Given the description of an element on the screen output the (x, y) to click on. 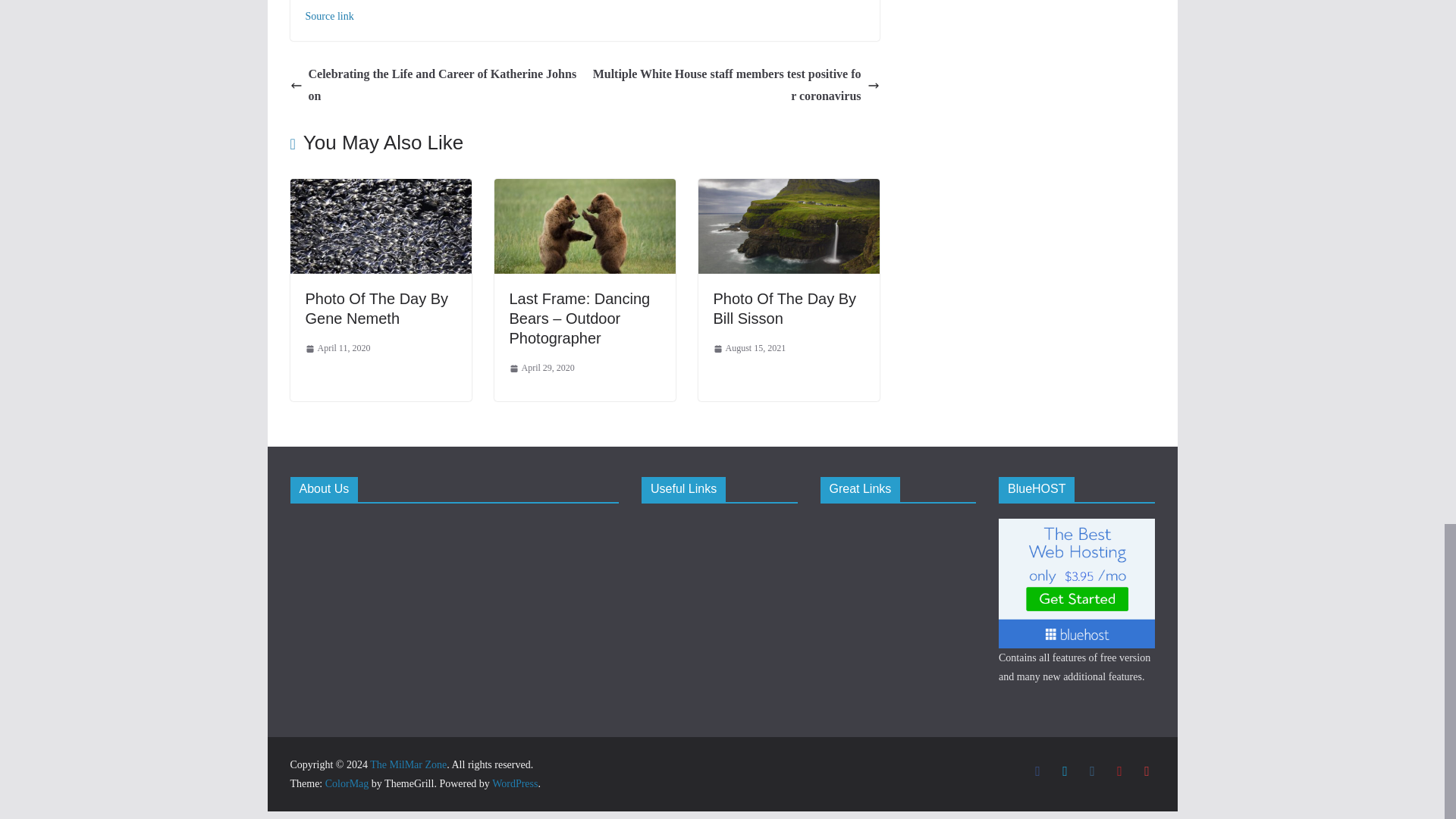
Photo Of The Day By Gene Nemeth (376, 308)
Source link (328, 16)
Celebrating the Life and Career of Katherine Johnson (432, 85)
7:38 pm (336, 348)
Photo Of The Day By Gene Nemeth (379, 188)
